Given the description of an element on the screen output the (x, y) to click on. 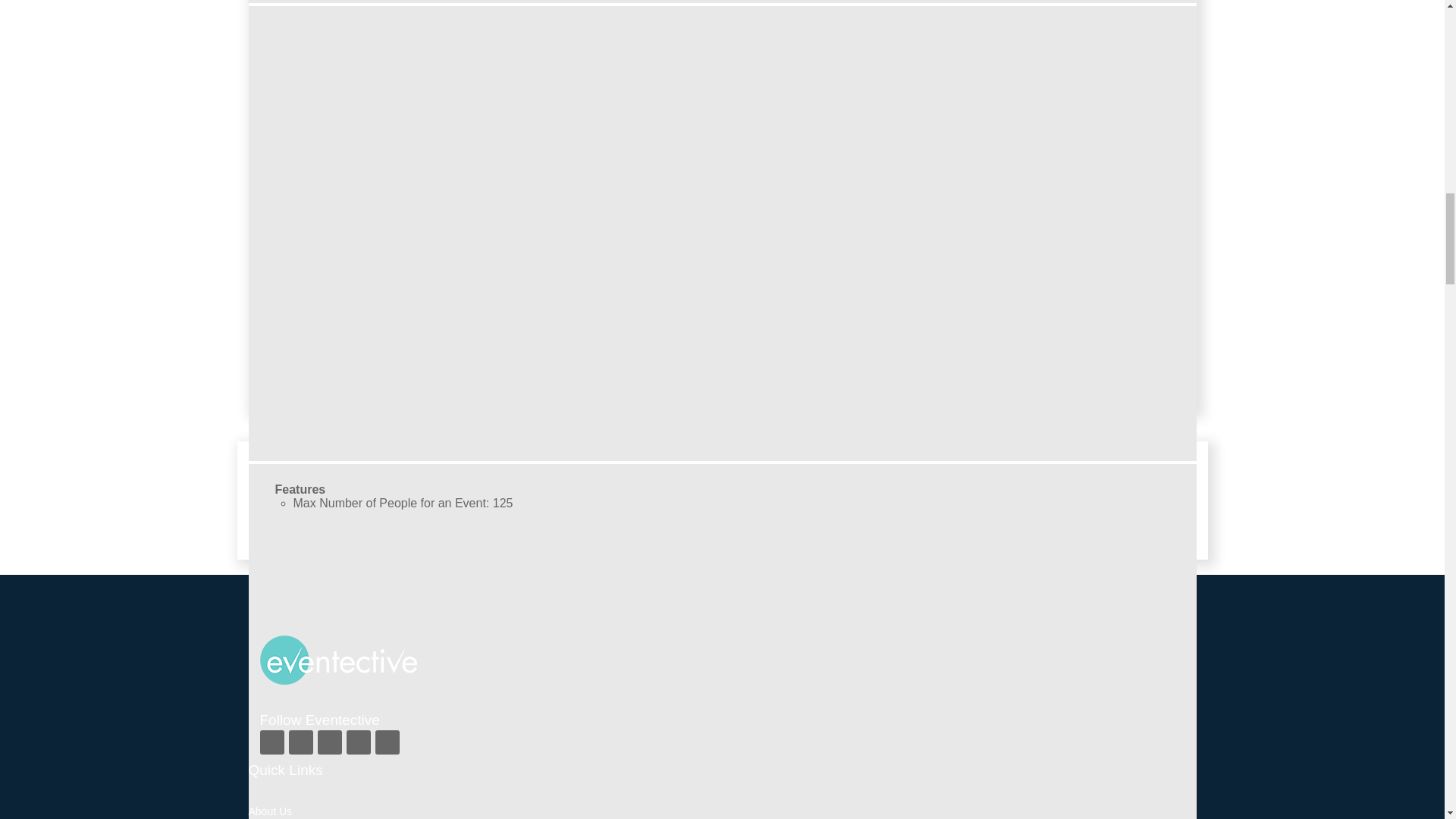
Follow on Twitter (300, 742)
Follow on Pinterest (357, 742)
Follow on LinkedIn (386, 742)
Follow on Instagram (328, 742)
Follow on Facebook (271, 742)
About Us (270, 811)
